Given the description of an element on the screen output the (x, y) to click on. 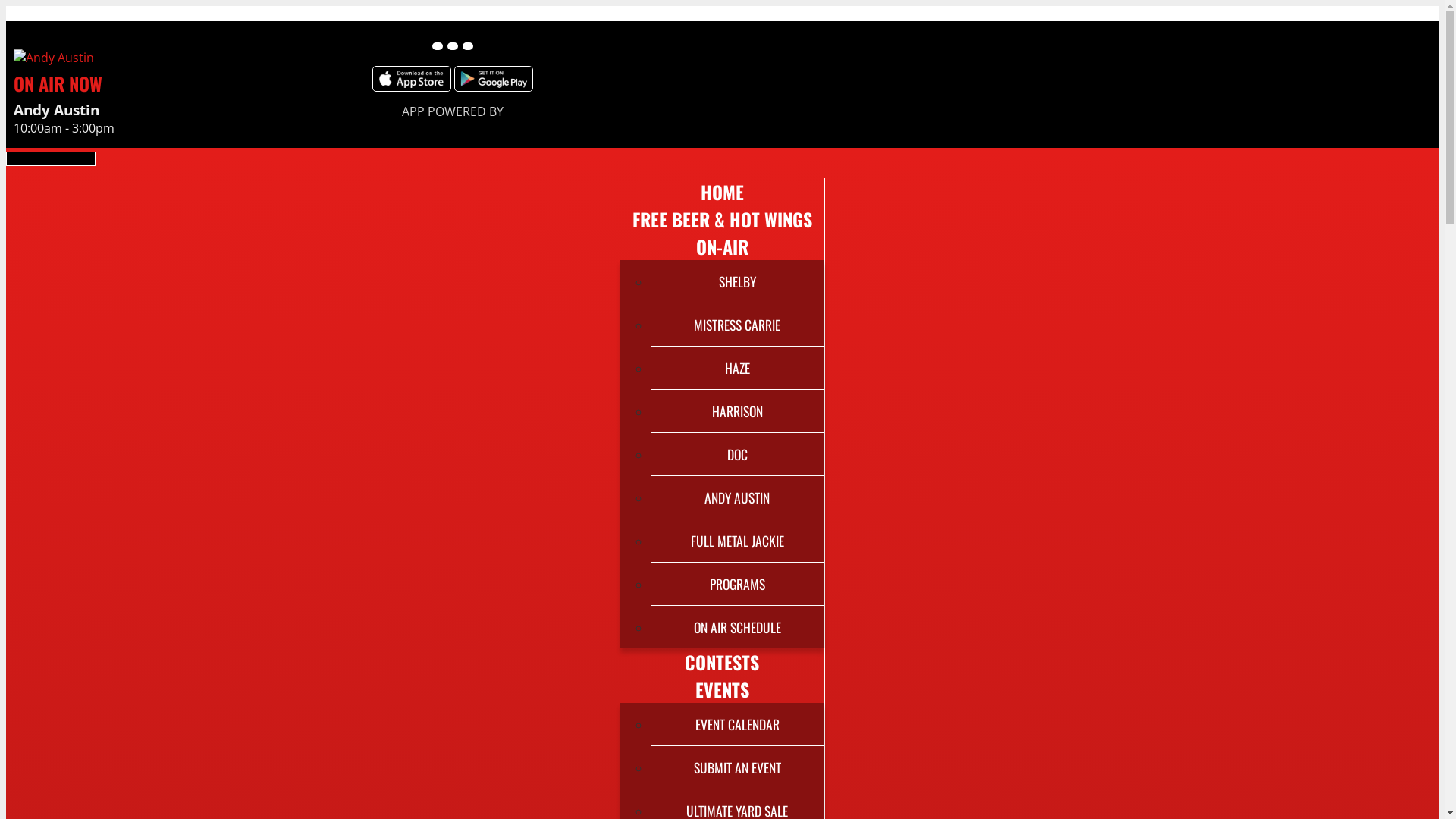
EVENTS Element type: text (721, 689)
CONTESTS Element type: text (721, 662)
SHELBY Element type: text (737, 281)
MISTRESS CARRIE Element type: text (737, 324)
FREE BEER & HOT WINGS Element type: text (722, 219)
SUBMIT AN EVENT Element type: text (737, 767)
EVENT CALENDAR Element type: text (737, 723)
HOME Element type: text (721, 191)
FULL METAL JACKIE Element type: text (737, 540)
Toggle navigation Element type: text (50, 158)
PROGRAMS Element type: text (737, 583)
ON AIR SCHEDULE Element type: text (737, 626)
ON-AIR Element type: text (722, 246)
ANDY AUSTIN Element type: text (737, 497)
HARRISON Element type: text (737, 410)
HAZE Element type: text (737, 367)
DOC Element type: text (737, 454)
